Given the description of an element on the screen output the (x, y) to click on. 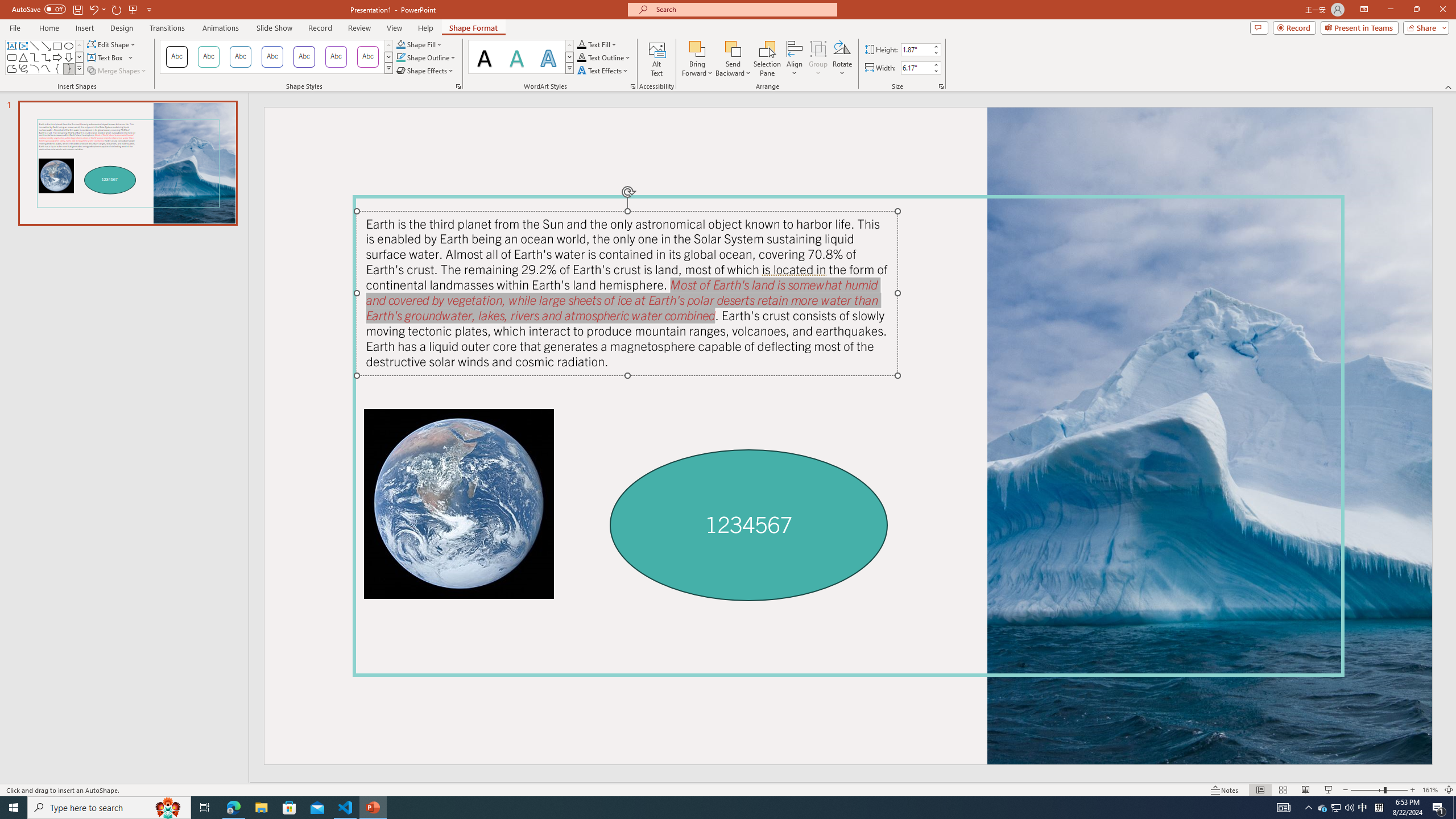
Zoom 161% (1430, 790)
Connector: Elbow (34, 57)
Send Backward (733, 48)
Less (935, 70)
Rotate (841, 58)
Draw Horizontal Text Box (105, 56)
Colored Outline - Blue, Accent 3 (272, 56)
Zoom (1379, 790)
File Tab (15, 27)
Quick Access Toolbar (82, 9)
Close (1442, 9)
Shapes (78, 68)
Line (34, 45)
Edit Shape (112, 44)
